Given the description of an element on the screen output the (x, y) to click on. 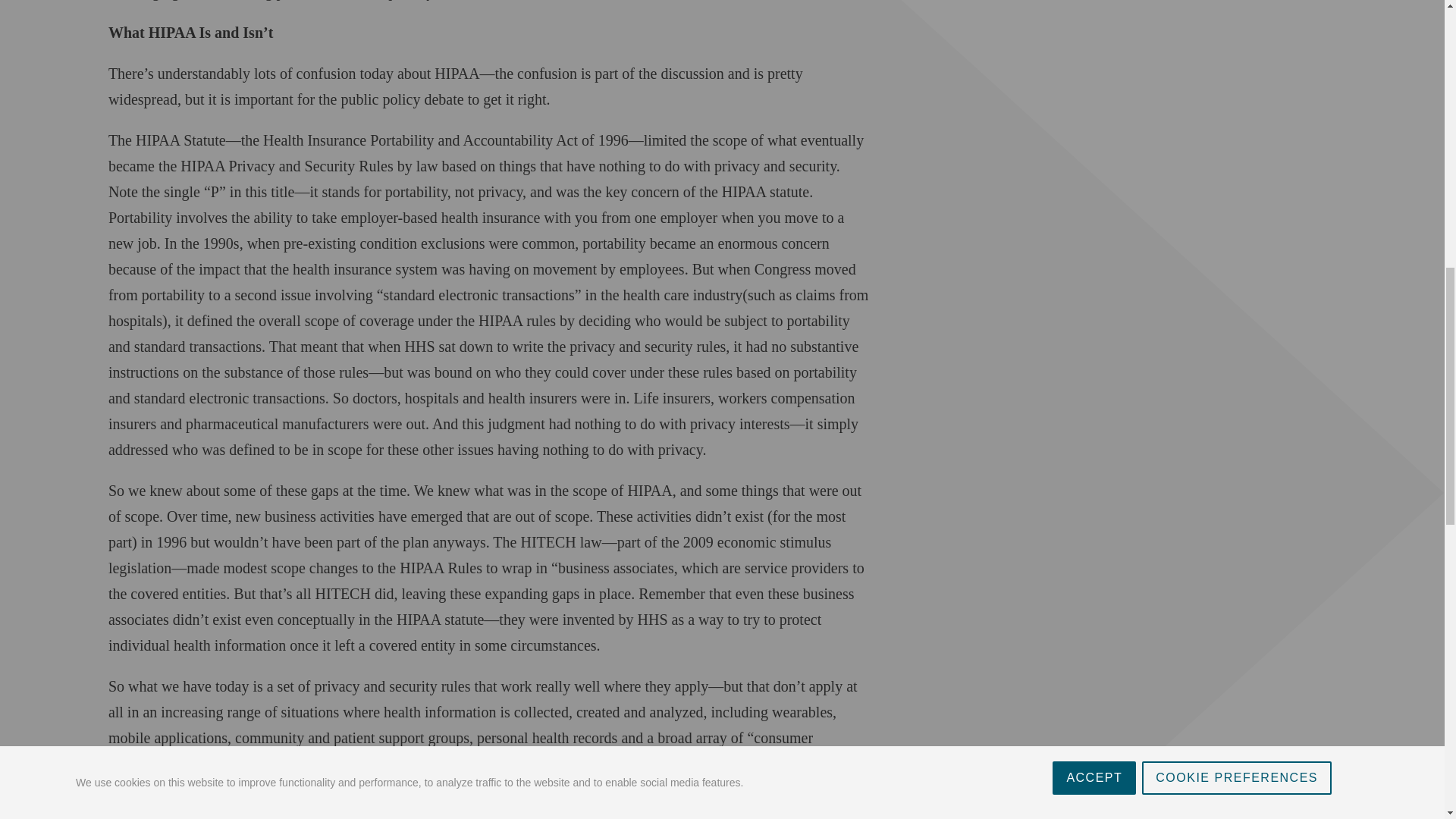
ACCEPT (1093, 3)
